Given the description of an element on the screen output the (x, y) to click on. 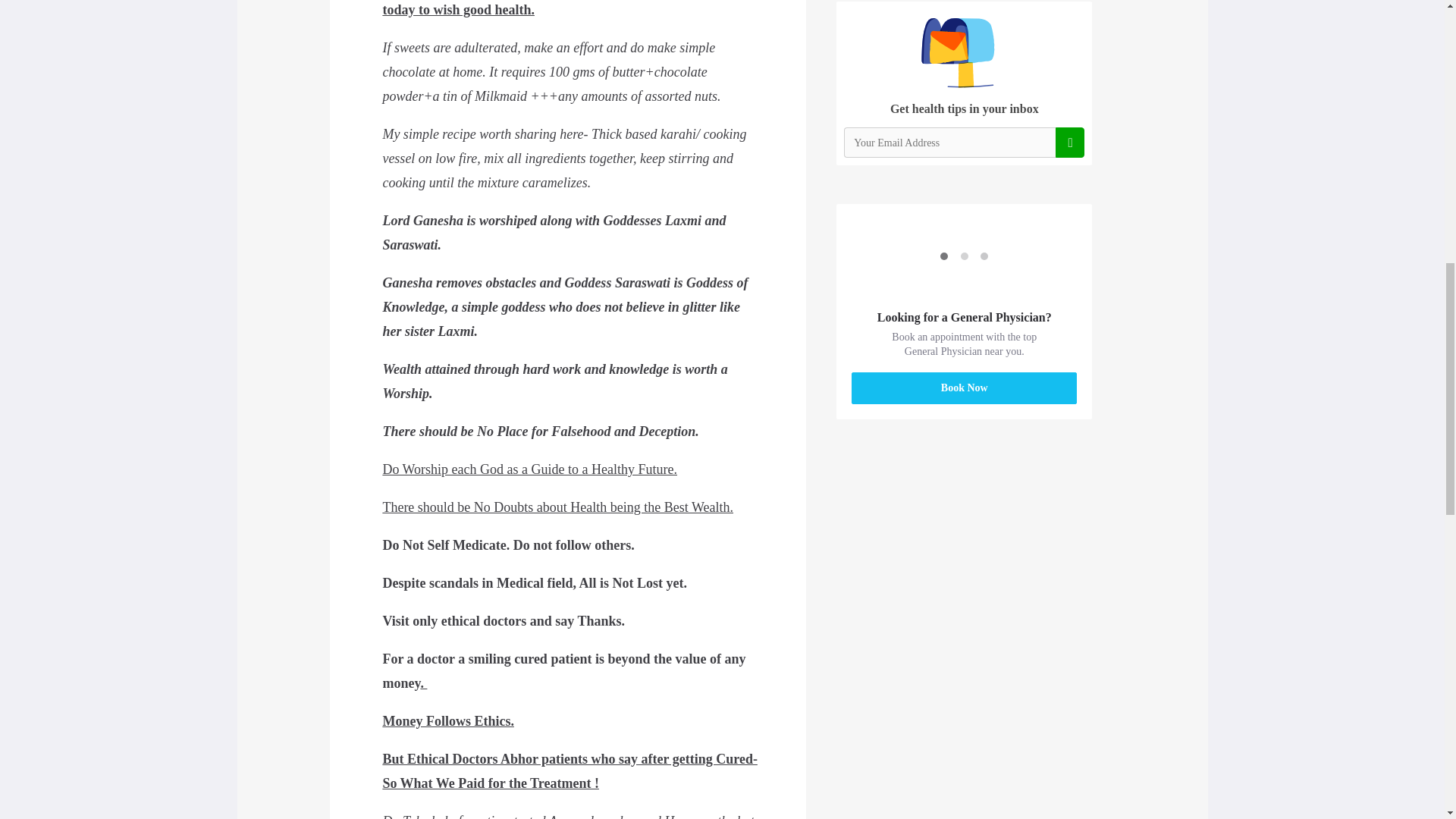
Book Now (964, 388)
